Given the description of an element on the screen output the (x, y) to click on. 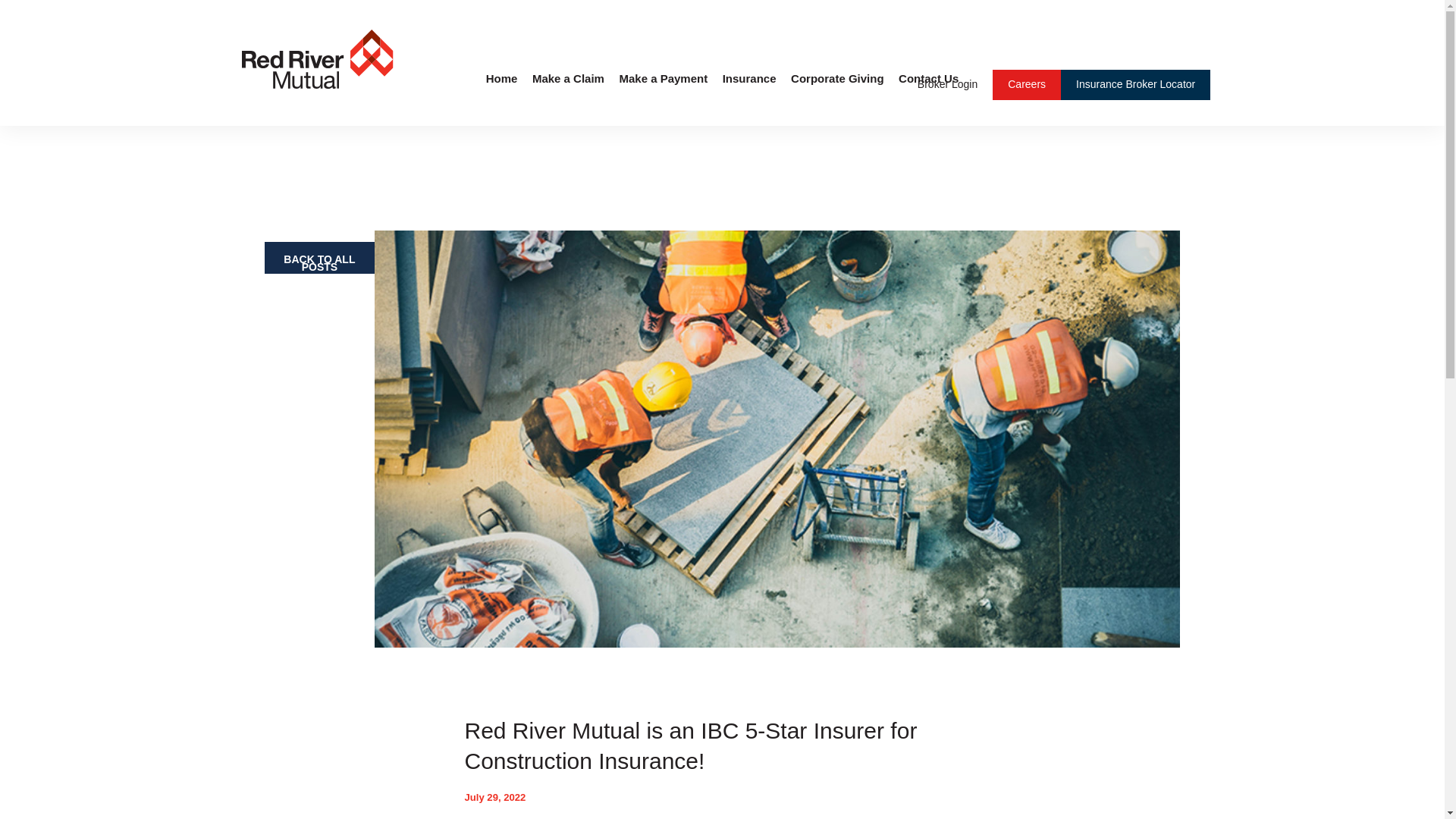
Home (317, 60)
Insurance Broker Locator (1135, 83)
Careers (1026, 83)
Insurance (749, 98)
Make a Claim (568, 98)
Contact Us (928, 98)
Broker Login (946, 83)
BACK TO ALL POSTS (319, 257)
Make a Payment (662, 98)
Corporate Giving (836, 98)
